Given the description of an element on the screen output the (x, y) to click on. 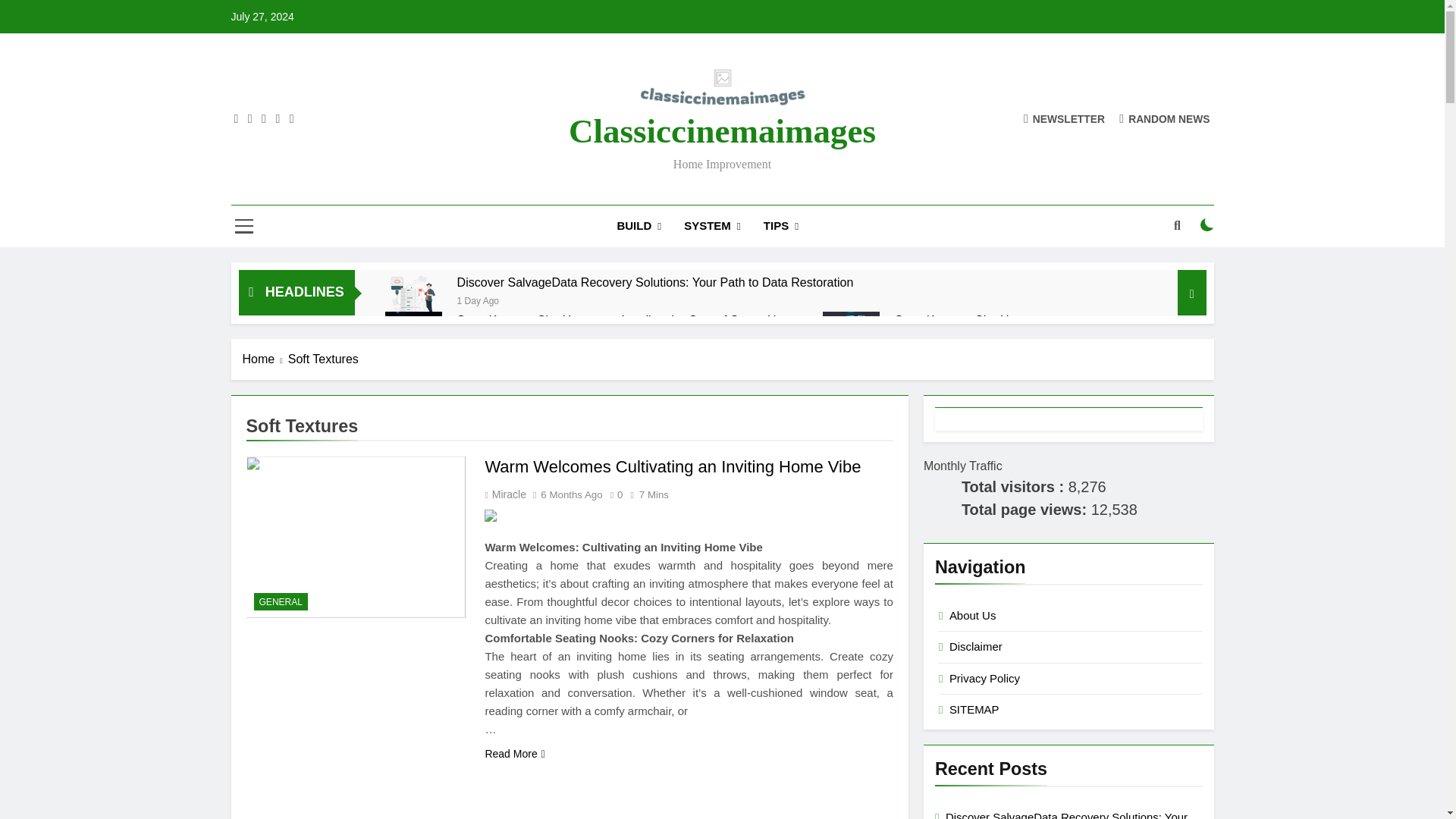
Song Kang as Cha Hyun-soo: Leading the Cast of Sweet Home (628, 319)
1 Day Ago (478, 299)
RANDOM NEWS (1164, 118)
Song Kang as Cha Hyun-soo (973, 319)
Classiccinemaimages (722, 130)
TIPS (780, 226)
Song Kang as Cha Hyun-soo (973, 319)
Song Kang as Cha Hyun-soo: Leading the Cast of Sweet Home (628, 319)
Song Kang as Cha Hyun-soo (850, 330)
on (1206, 224)
BUILD (638, 226)
SYSTEM (712, 226)
